Given the description of an element on the screen output the (x, y) to click on. 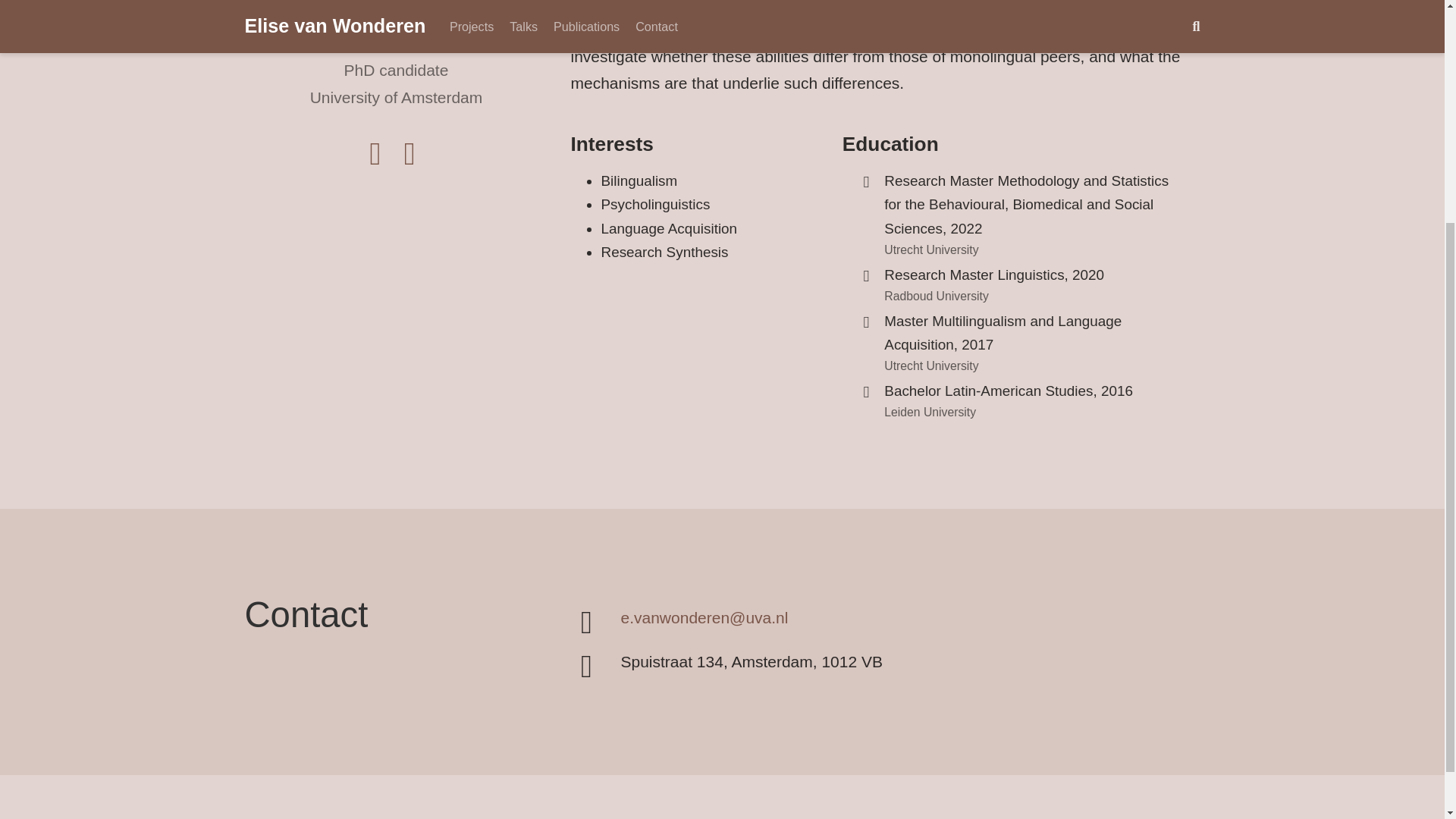
MultiCUE project (1018, 6)
